Given the description of an element on the screen output the (x, y) to click on. 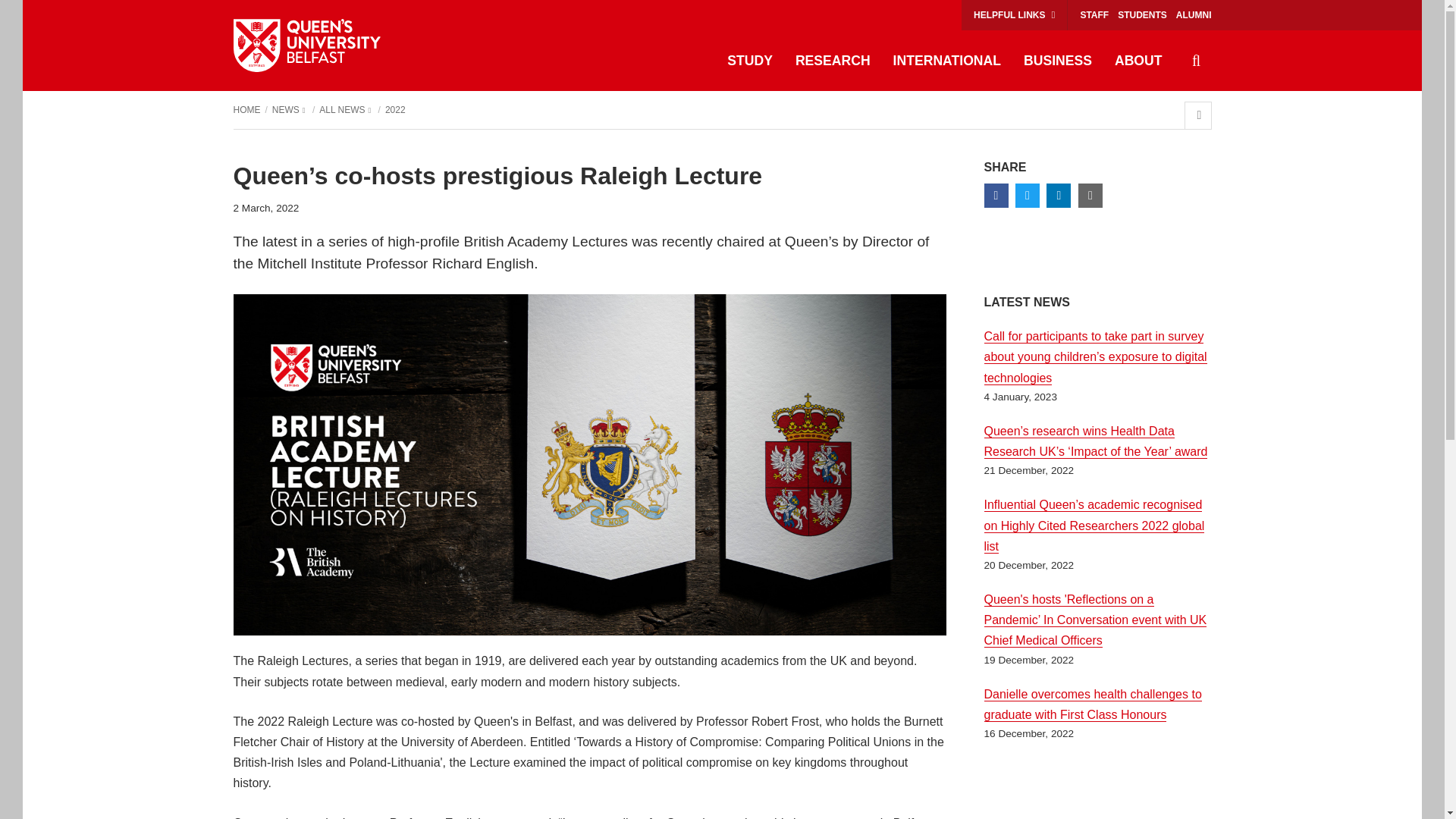
Queen's University Belfast (306, 45)
HELPFUL LINKS (1013, 15)
STUDY (750, 60)
SKIP TO CONTENT (40, 15)
STUDENTS (1142, 15)
STAFF (1094, 15)
RESEARCH (833, 60)
ALUMNI (1193, 15)
